Given the description of an element on the screen output the (x, y) to click on. 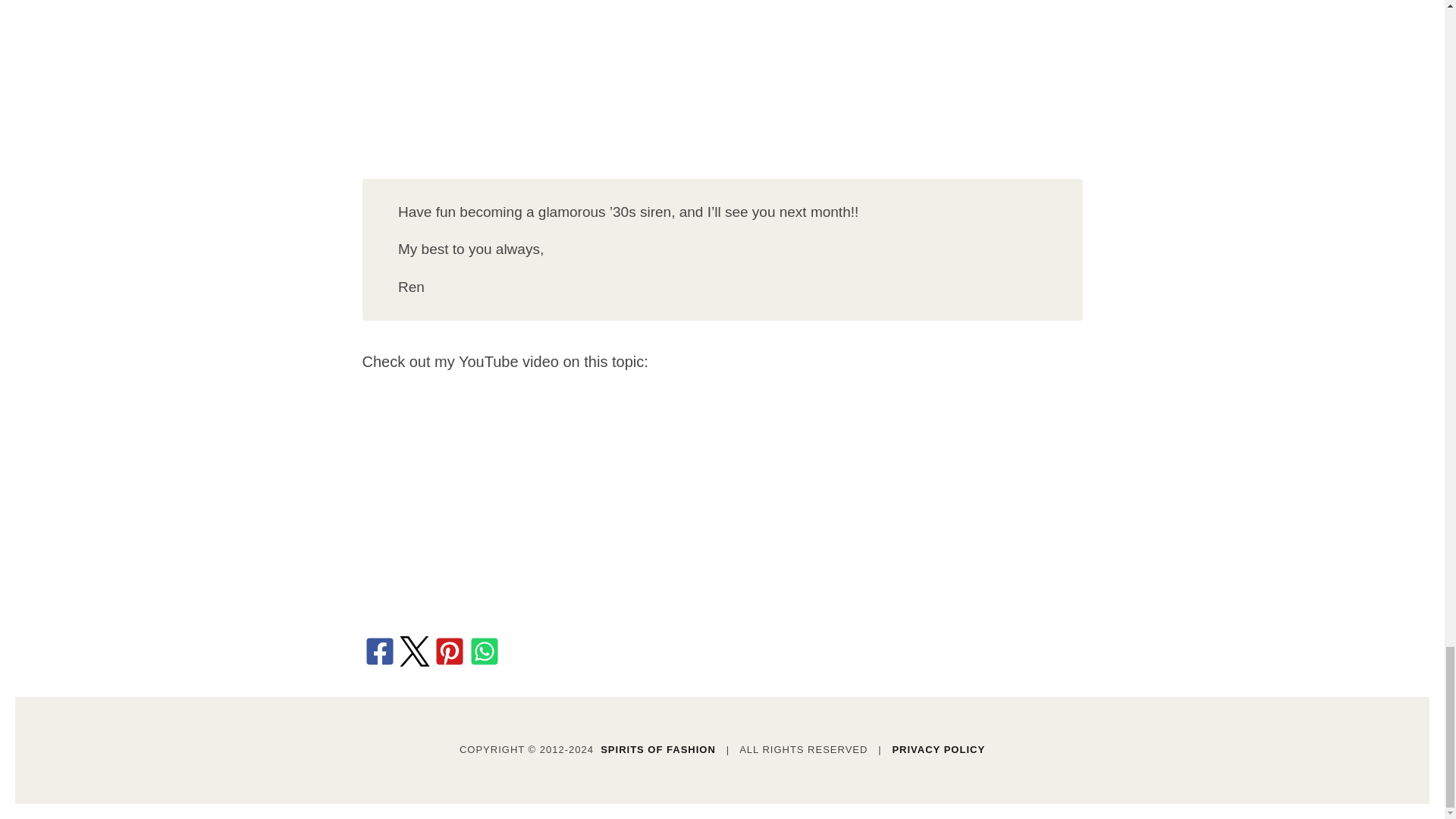
PRIVACY POLICY (938, 749)
SPIRITS OF FASHION (657, 749)
